Given the description of an element on the screen output the (x, y) to click on. 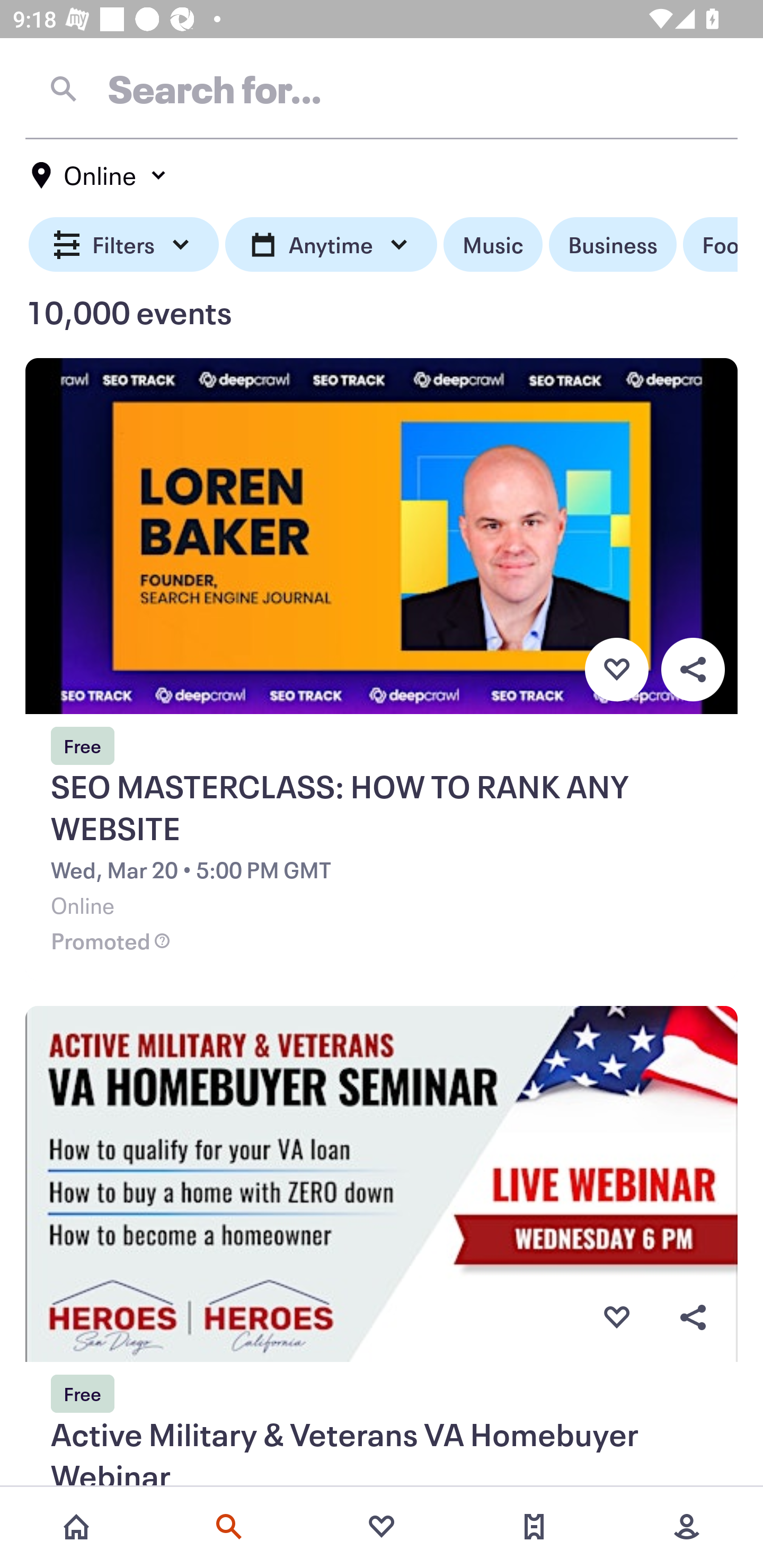
Search for… (381, 88)
Online (99, 175)
Filters (123, 244)
Anytime (331, 244)
Music (492, 244)
Business (612, 244)
Favorite button (616, 669)
Overflow menu button (692, 669)
Favorite button (616, 1317)
Overflow menu button (692, 1317)
Home (76, 1526)
Search events (228, 1526)
Favorites (381, 1526)
Tickets (533, 1526)
More (686, 1526)
